Given the description of an element on the screen output the (x, y) to click on. 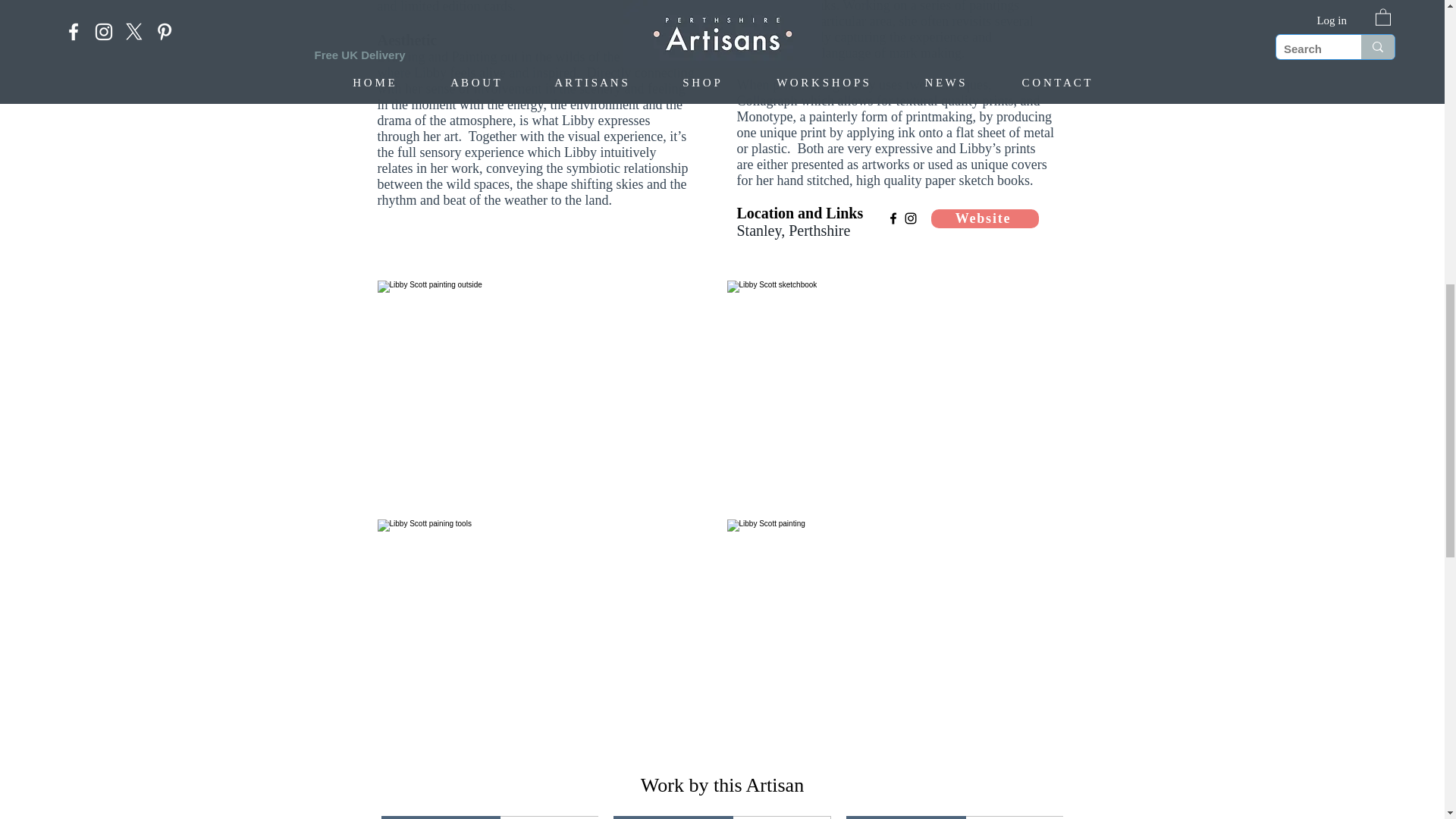
Exclusive One Off Item (954, 817)
Exclusive One Off Item (489, 817)
Website (985, 218)
Exclusive One Off Item (721, 817)
